Given the description of an element on the screen output the (x, y) to click on. 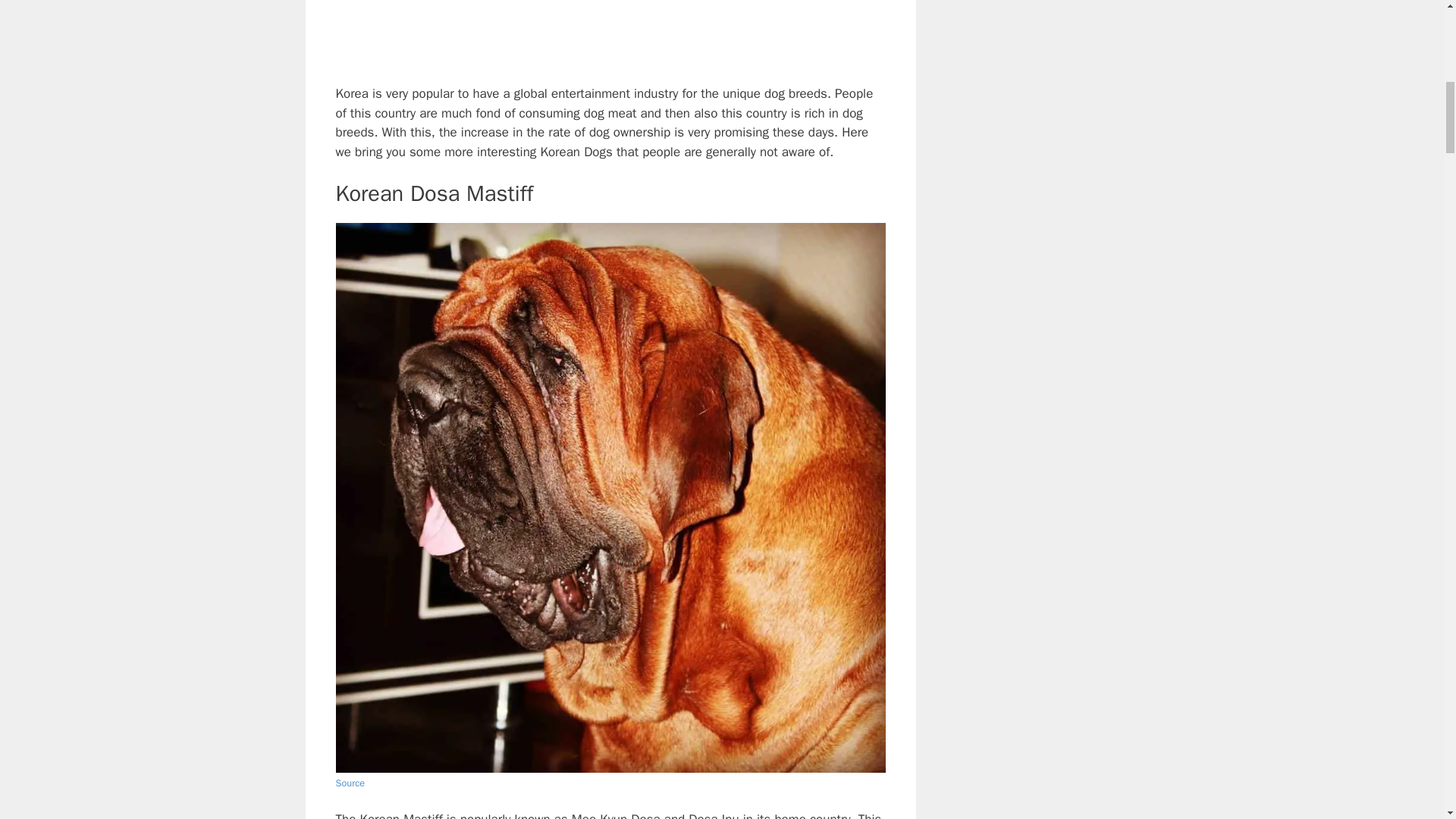
Scroll back to top (1406, 720)
Source (349, 783)
Advertisement (609, 38)
